Given the description of an element on the screen output the (x, y) to click on. 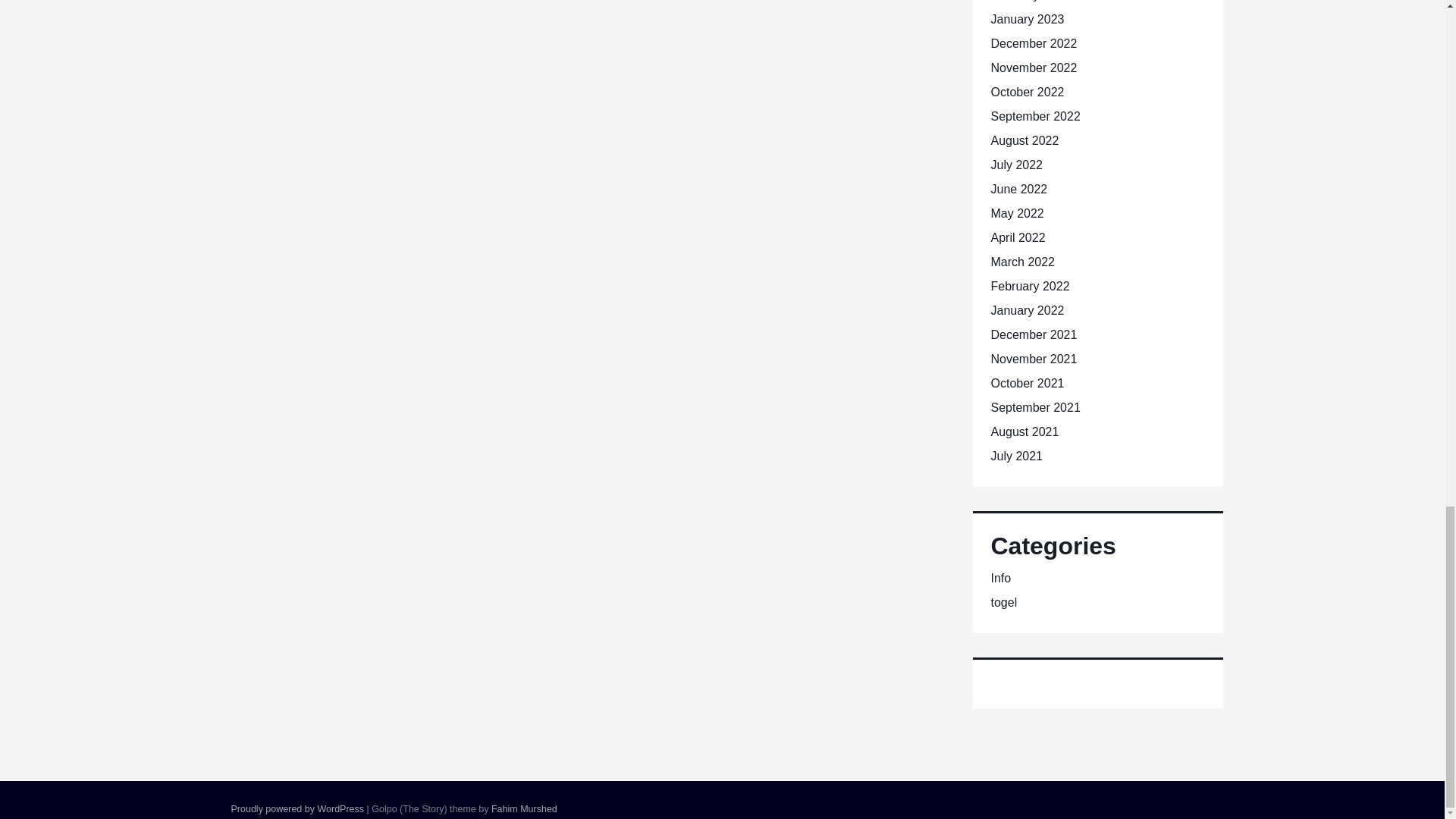
September 2022 (1035, 115)
July 2022 (1016, 164)
December 2022 (1033, 42)
November 2022 (1033, 67)
October 2022 (1027, 91)
February 2023 (1029, 0)
August 2022 (1024, 140)
January 2023 (1027, 19)
